Given the description of an element on the screen output the (x, y) to click on. 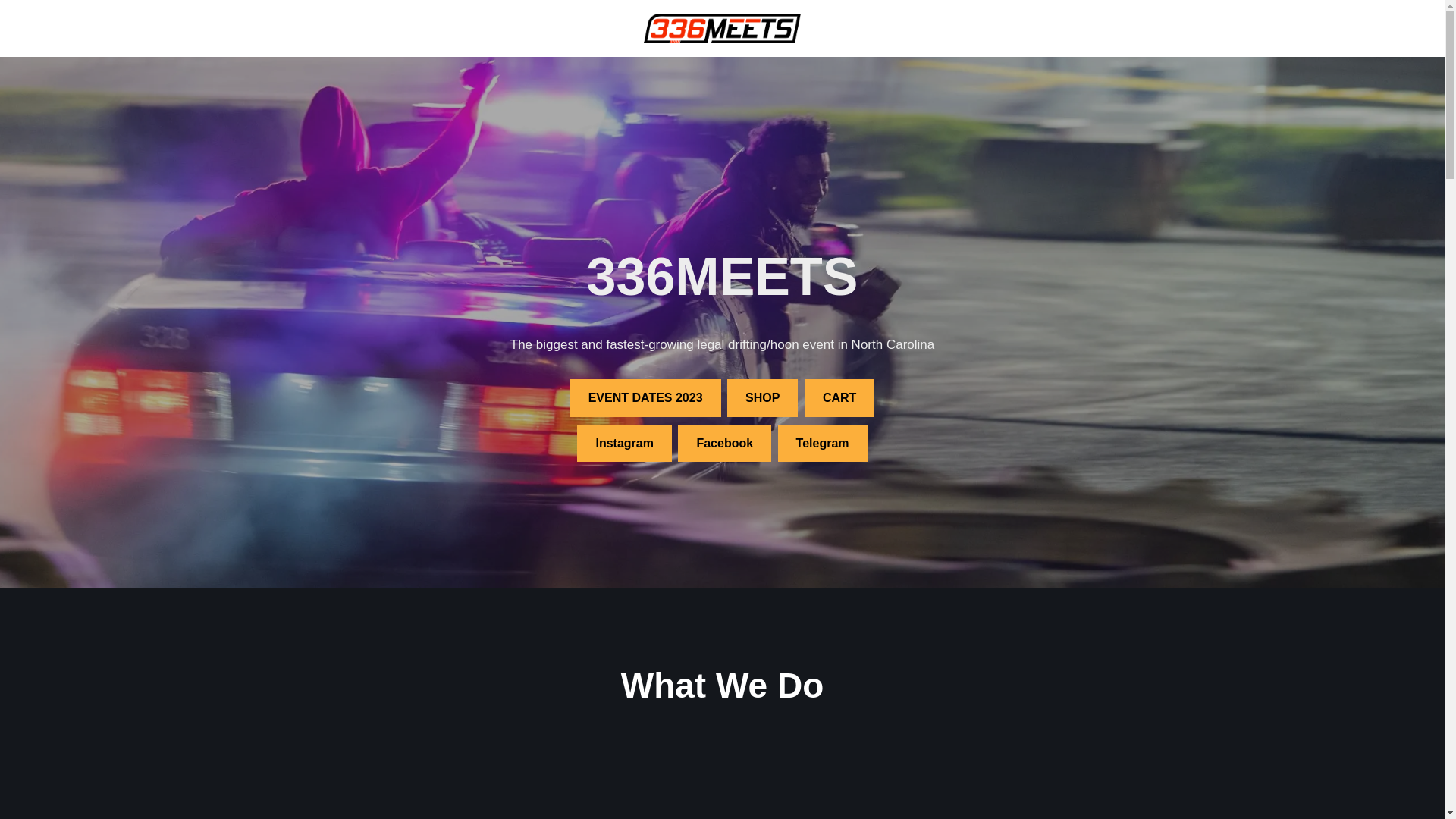
Telegram Element type: text (822, 443)
Instagram Element type: text (624, 443)
Facebook Element type: text (724, 443)
CART Element type: text (839, 398)
EVENT DATES 2023 Element type: text (645, 398)
SHOP Element type: text (762, 398)
Skip to content Element type: text (11, 31)
